Given the description of an element on the screen output the (x, y) to click on. 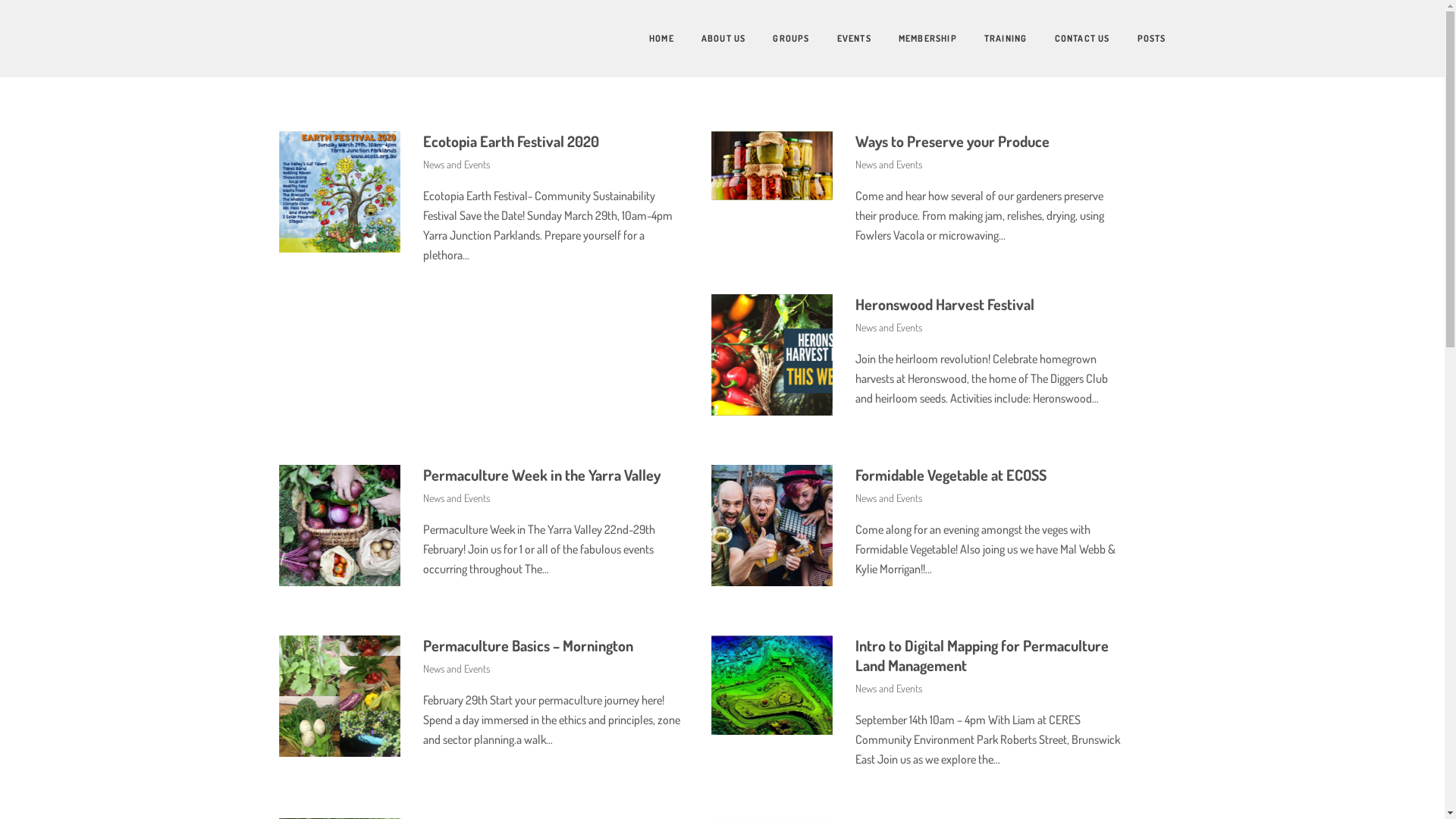
News and Events Element type: text (888, 687)
MEMBERSHIP Element type: text (914, 38)
EVENTS Element type: text (840, 38)
News and Events Element type: text (888, 163)
ABOUT US Element type: text (710, 38)
Intro to Digital Mapping for Permaculture Land Management Element type: text (981, 654)
Permaculture Week in the Yarra Valley Element type: text (541, 474)
HOME Element type: text (647, 38)
News and Events Element type: text (456, 163)
Formidable Vegetable at ECOSS Element type: text (950, 474)
Heronswood Harvest Festival Element type: text (944, 303)
POSTS Element type: text (1138, 38)
Ecotopia Earth Festival 2020 Element type: text (511, 140)
News and Events Element type: text (456, 668)
Ways to Preserve your Produce Element type: text (952, 140)
News and Events Element type: text (888, 497)
TRAINING Element type: text (992, 38)
News and Events Element type: text (456, 497)
News and Events Element type: text (888, 326)
GROUPS Element type: text (777, 38)
CONTACT US Element type: text (1067, 38)
